Given the description of an element on the screen output the (x, y) to click on. 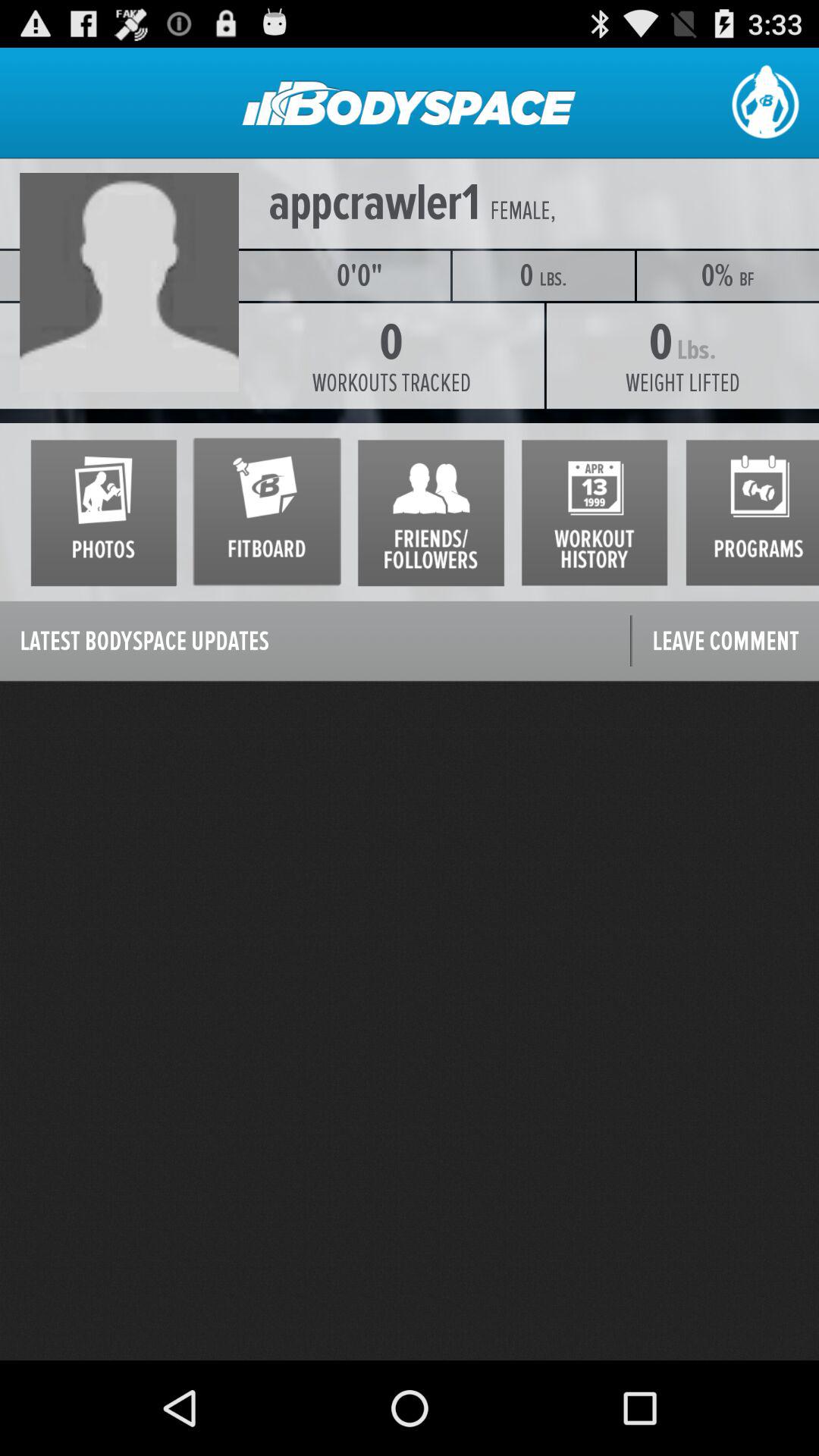
choose the weight lifted icon (682, 382)
